Given the description of an element on the screen output the (x, y) to click on. 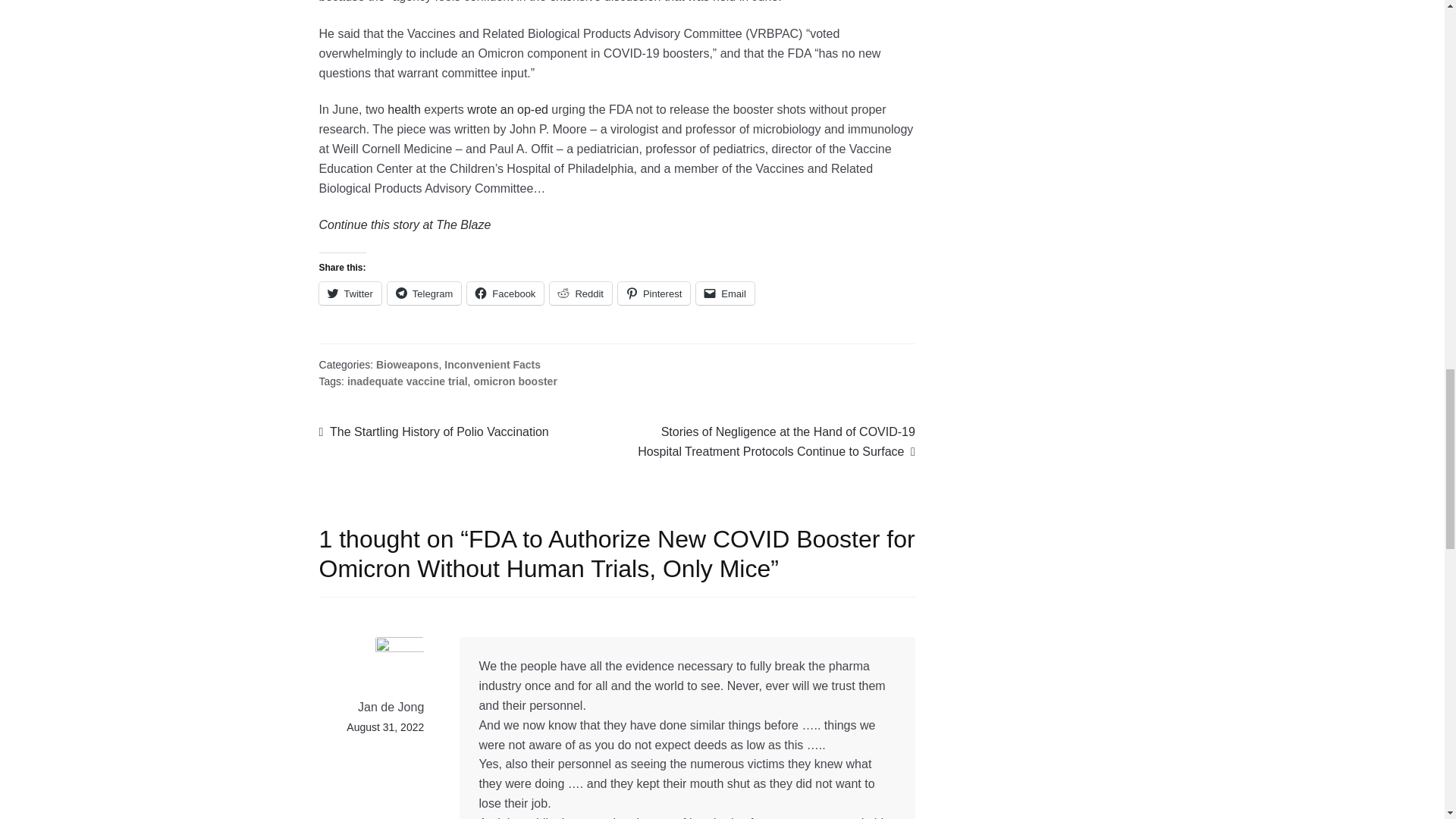
Click to share on Twitter (349, 292)
Click to share on Pinterest (653, 292)
Click to email a link to a friend (724, 292)
Click to share on Telegram (424, 292)
Click to share on Facebook (505, 292)
Click to share on Reddit (580, 292)
